Given the description of an element on the screen output the (x, y) to click on. 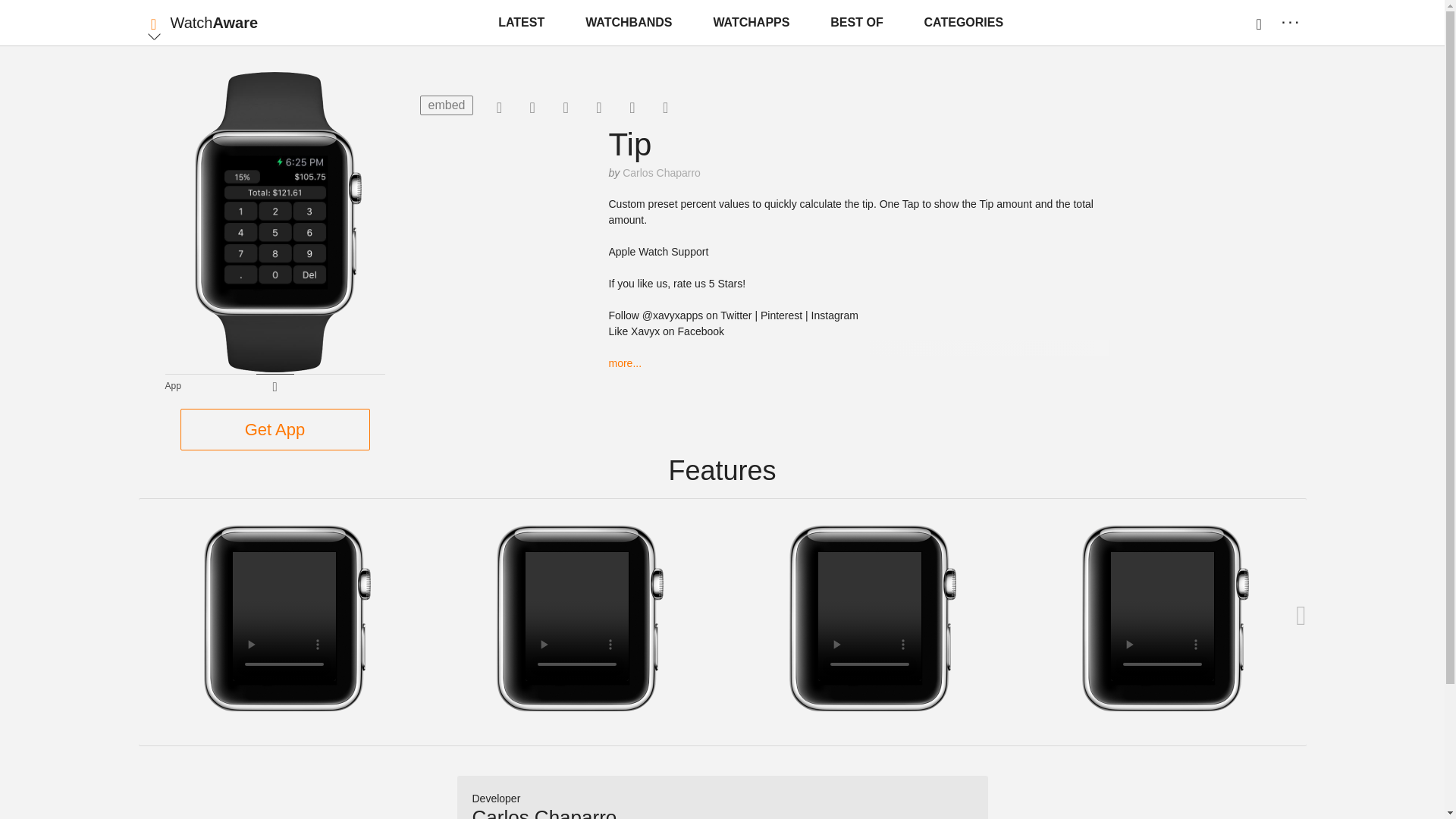
embed (447, 105)
WatchAware (213, 22)
LATEST (520, 22)
CATEGORIES (964, 22)
BEST OF (855, 22)
WATCHAPPS (751, 22)
WATCHBANDS (628, 22)
